Given the description of an element on the screen output the (x, y) to click on. 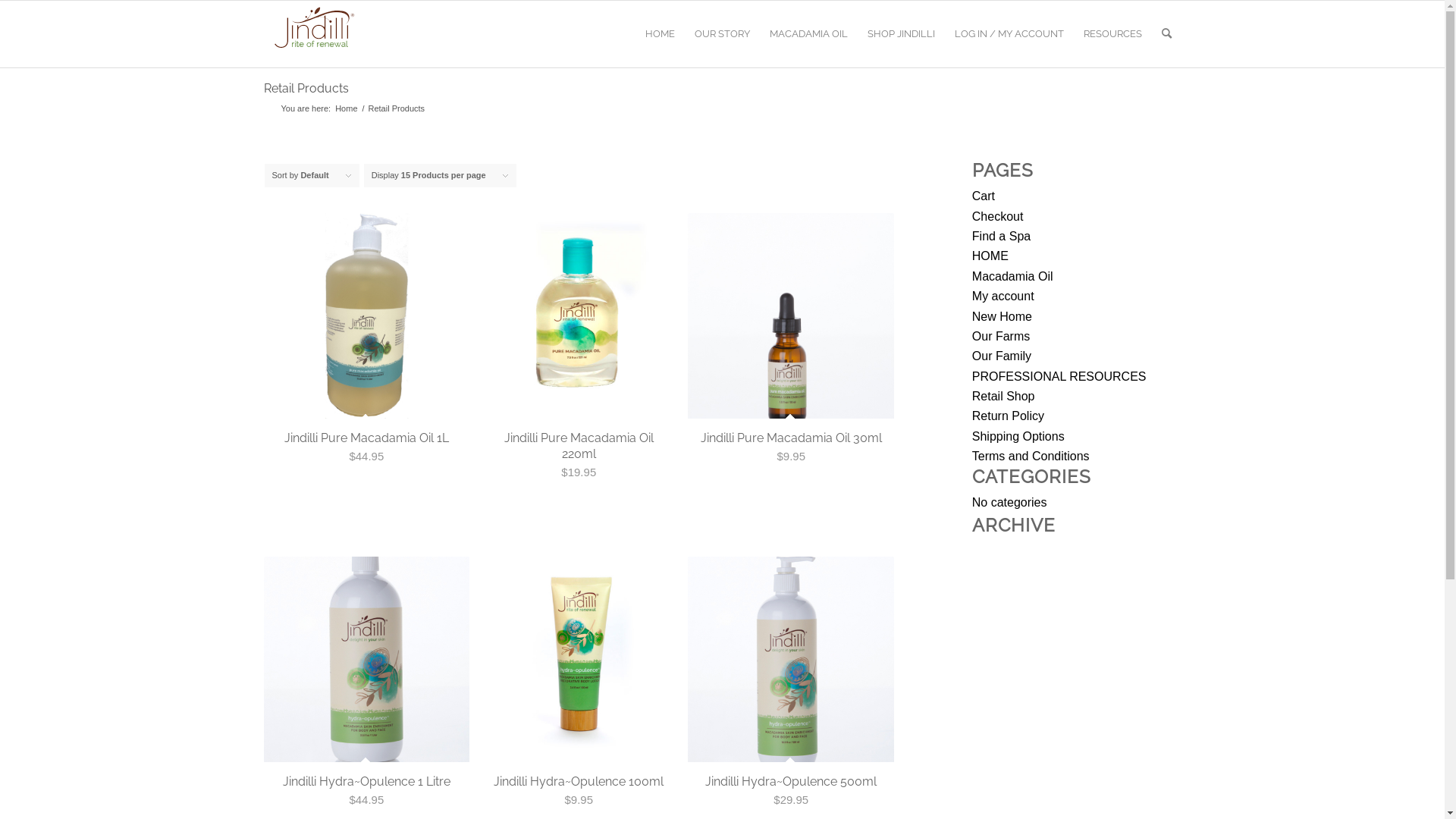
Terms and Conditions Element type: text (1030, 455)
SHOP JINDILLI Element type: text (900, 33)
Jindilli Pure Macadamia Oil 220ml
$19.95 Element type: text (578, 353)
Macadamia Oil Element type: text (1012, 275)
HOME Element type: text (659, 33)
My account Element type: text (1003, 295)
PROFESSIONAL RESOURCES Element type: text (1059, 376)
Jindilli Pure Macadamia Oil 1L
$44.95 Element type: text (366, 350)
Home Element type: text (345, 108)
Find a Spa Element type: text (1001, 235)
New Home Element type: text (1002, 316)
Shipping Options Element type: text (1018, 435)
Our Farms Element type: text (1000, 335)
Jindilli Pure Macadamia Oil 30ml
$9.95 Element type: text (790, 350)
Checkout Element type: text (997, 216)
RESOURCES Element type: text (1112, 33)
MACADAMIA OIL Element type: text (808, 33)
Retail Shop Element type: text (1003, 395)
Cart Element type: text (983, 195)
Return Policy Element type: text (1008, 415)
OUR STORY Element type: text (721, 33)
Our Family Element type: text (1001, 355)
HOME Element type: text (990, 255)
LOG IN / MY ACCOUNT Element type: text (1008, 33)
